Given the description of an element on the screen output the (x, y) to click on. 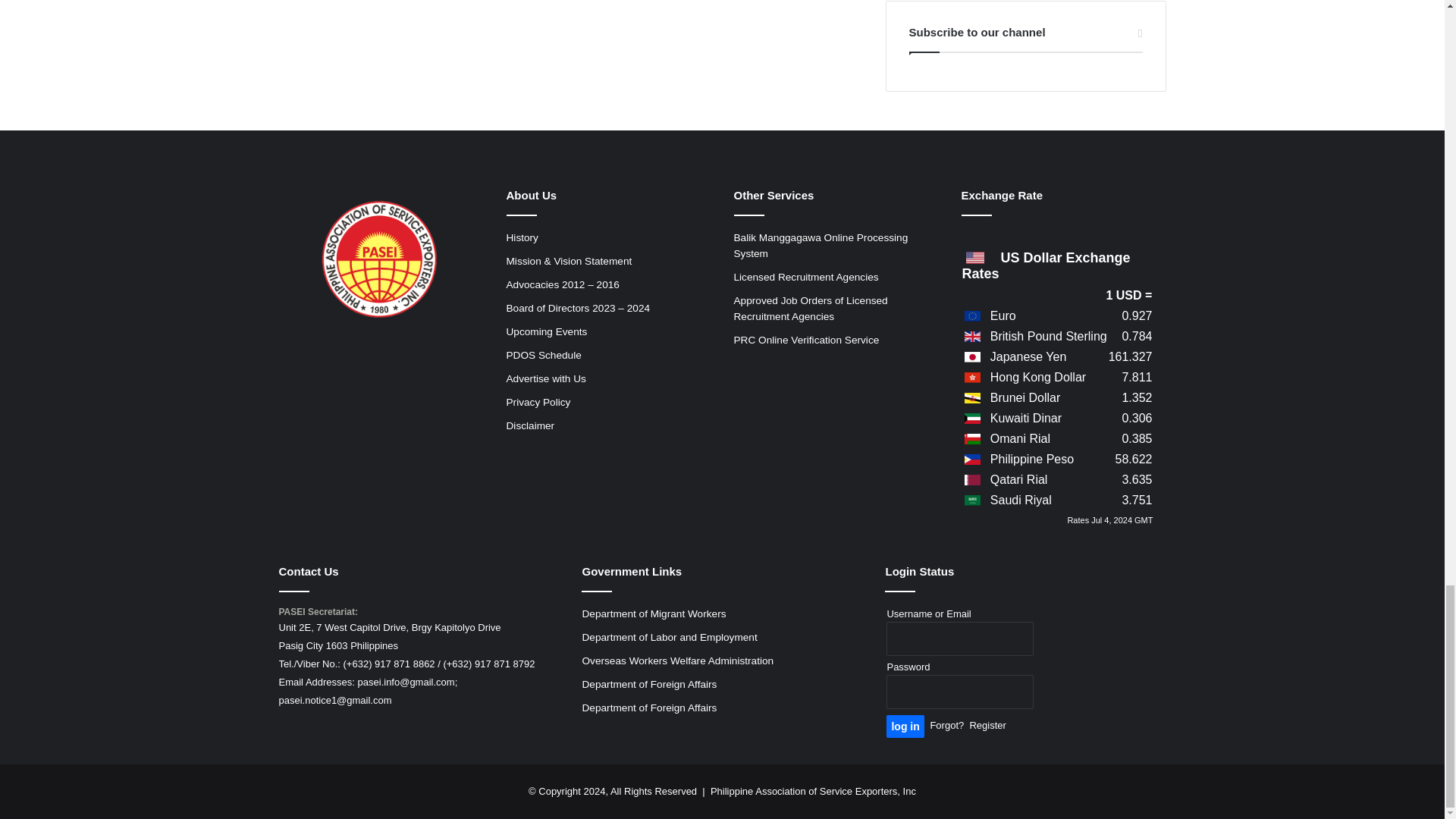
log in (904, 725)
